Given the description of an element on the screen output the (x, y) to click on. 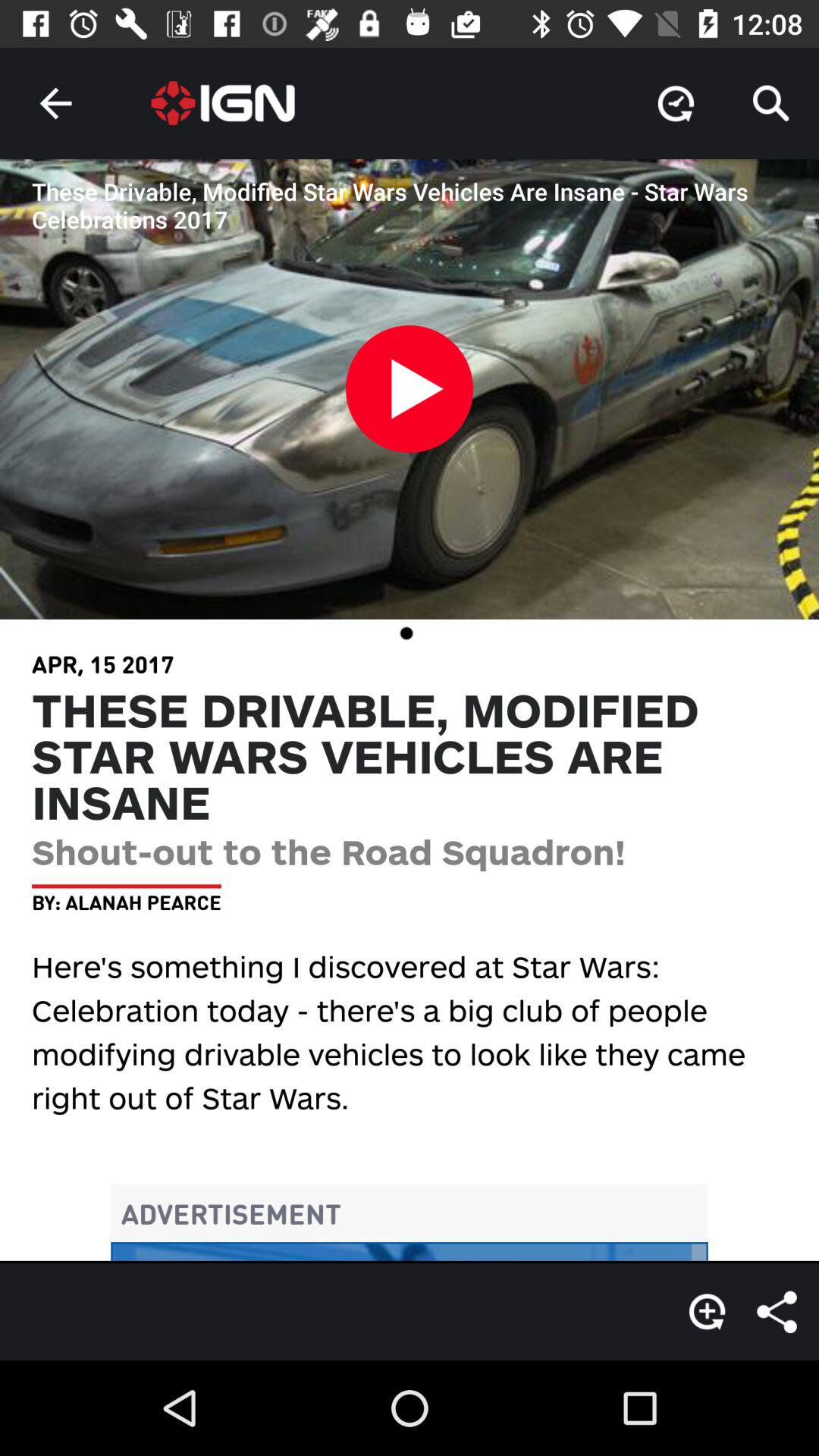
click on (409, 396)
click on the icon on the left side of search icon (675, 103)
